Given the description of an element on the screen output the (x, y) to click on. 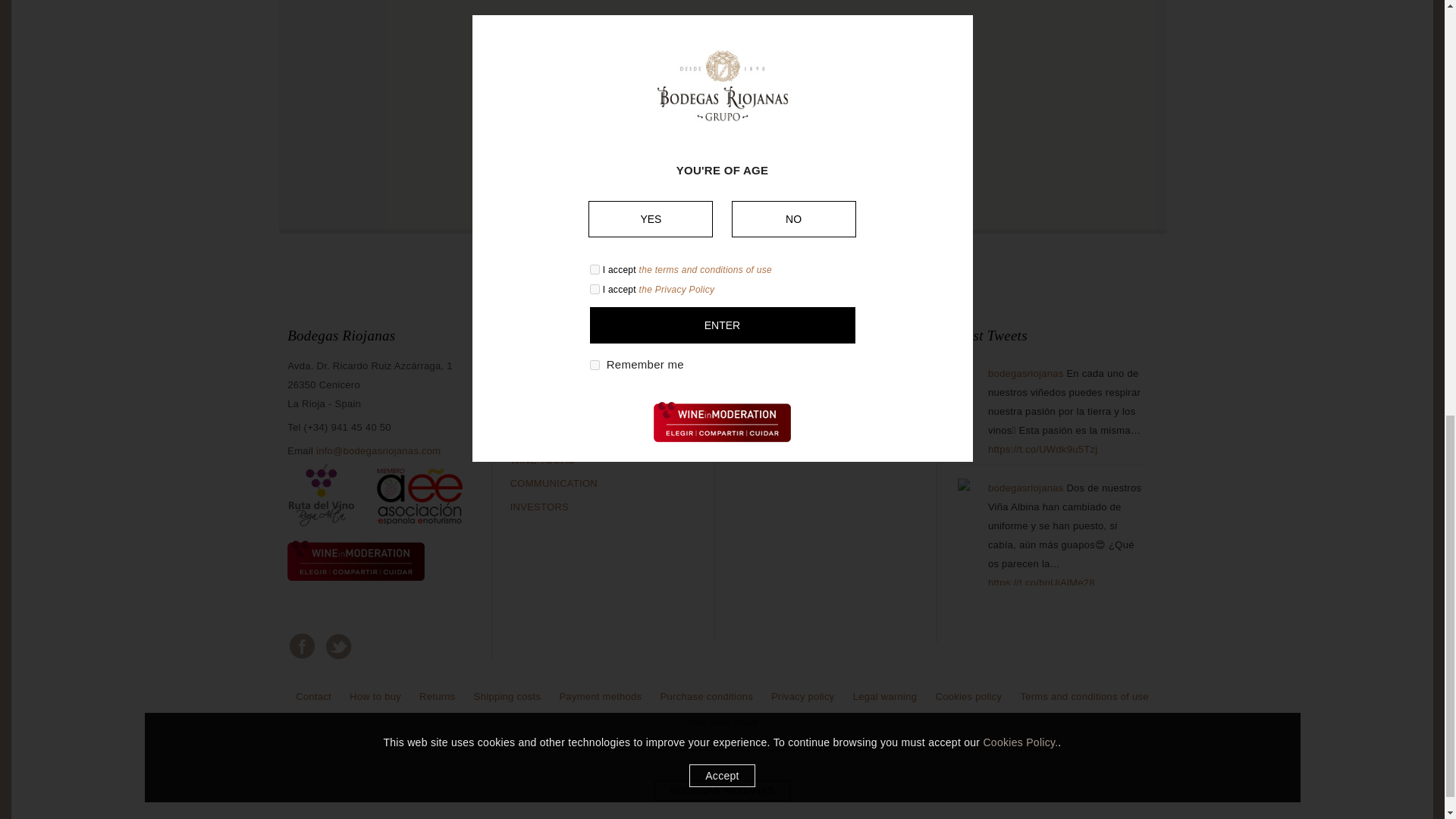
Rutas del Vino Rioja Alta (321, 526)
COMMUNICATION (553, 482)
WINE TOURS (543, 460)
Facebook (300, 644)
Twitter (336, 644)
HISTORY (532, 365)
ELABORATION (546, 412)
WINERIES (535, 389)
See Wall Social (723, 162)
WINES (527, 436)
